Given the description of an element on the screen output the (x, y) to click on. 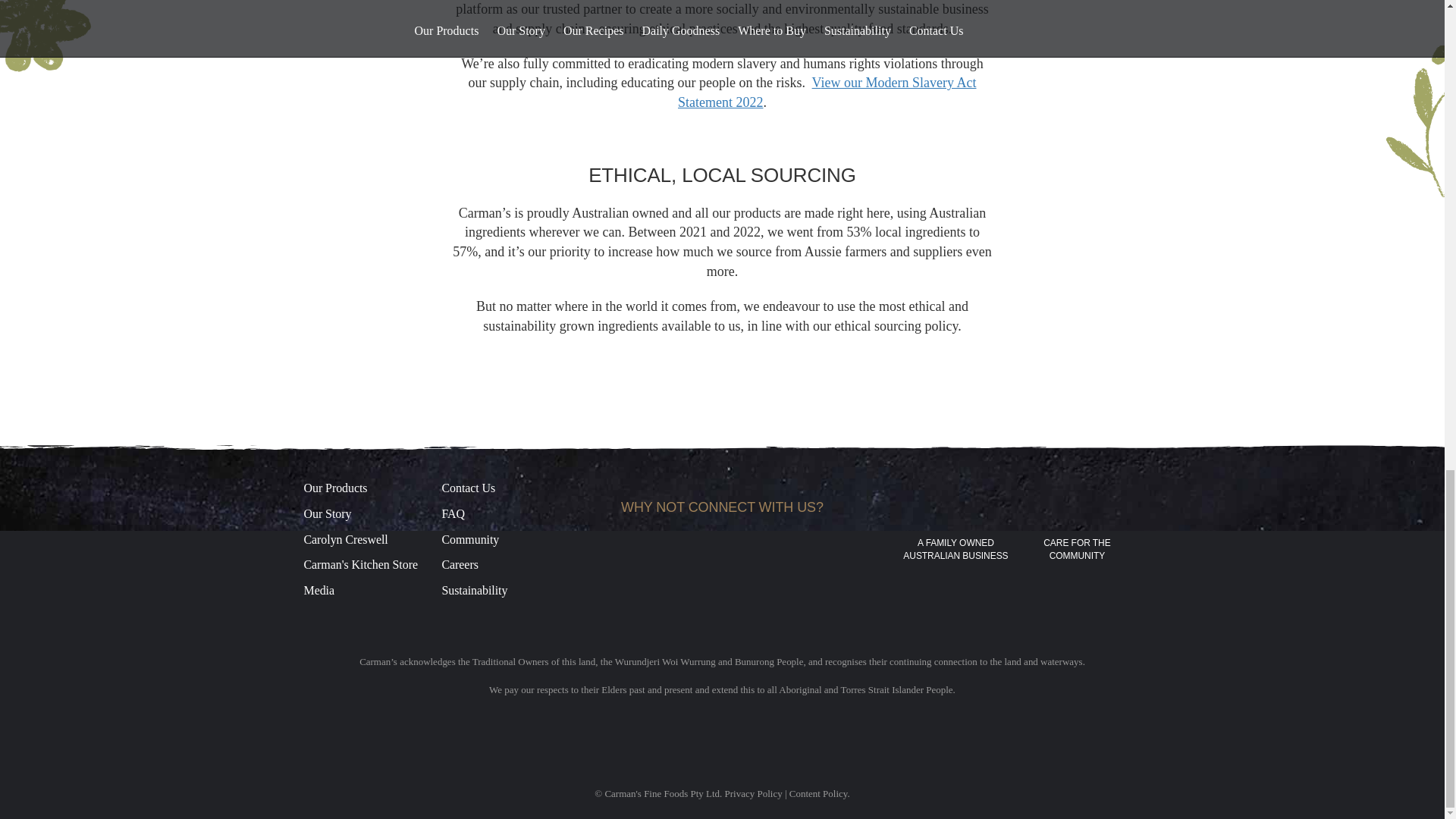
Facebook (651, 548)
Instagram (677, 548)
